Given the description of an element on the screen output the (x, y) to click on. 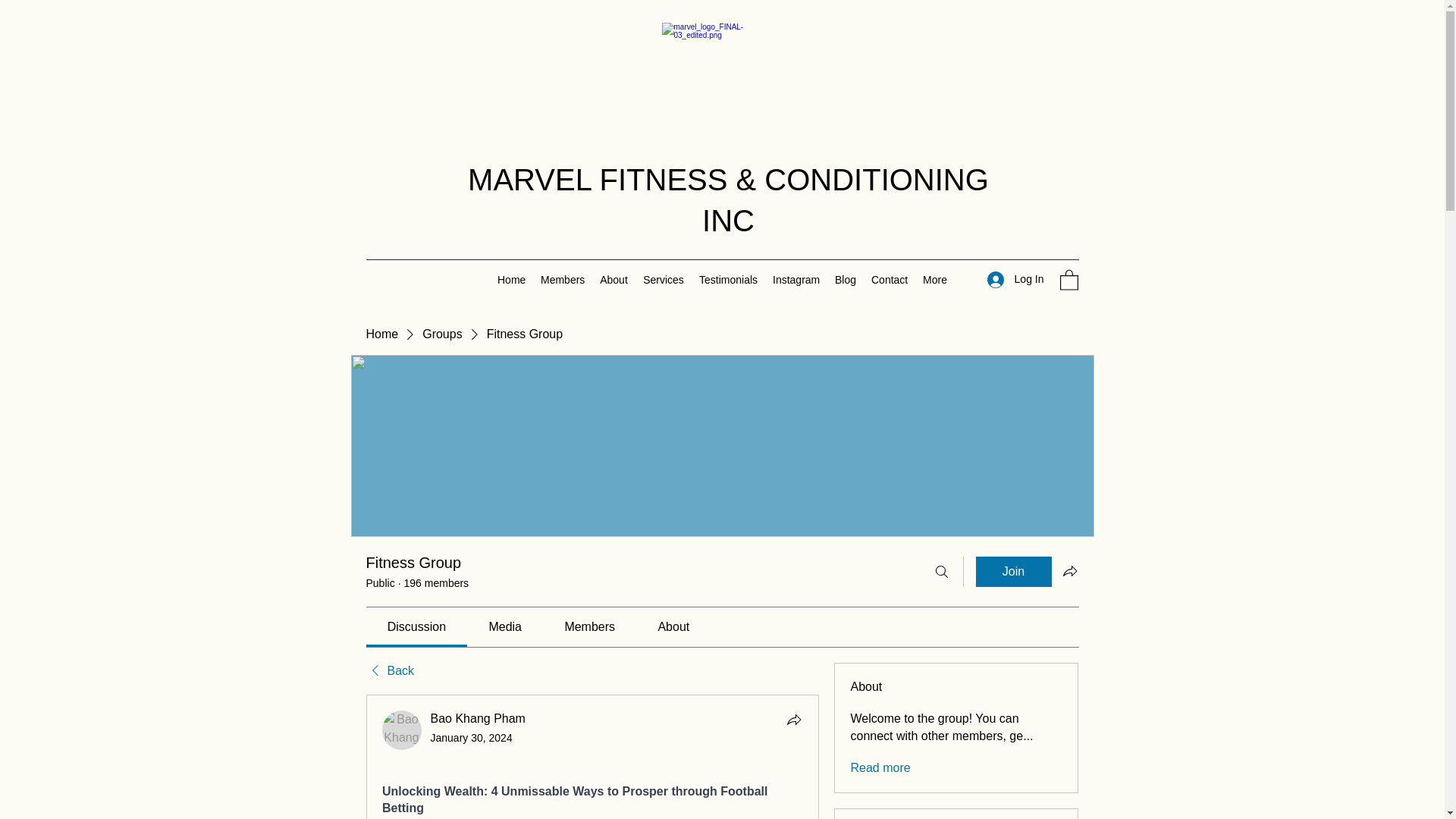
About (613, 279)
Bao Khang Pham (401, 730)
Log In (1015, 279)
Blog (845, 279)
Services (662, 279)
Home (381, 334)
Home (510, 279)
January 30, 2024 (471, 737)
Members (562, 279)
Groups (441, 334)
Back (389, 670)
Instagram (796, 279)
Contact (889, 279)
Testimonials (728, 279)
Read more (880, 768)
